Given the description of an element on the screen output the (x, y) to click on. 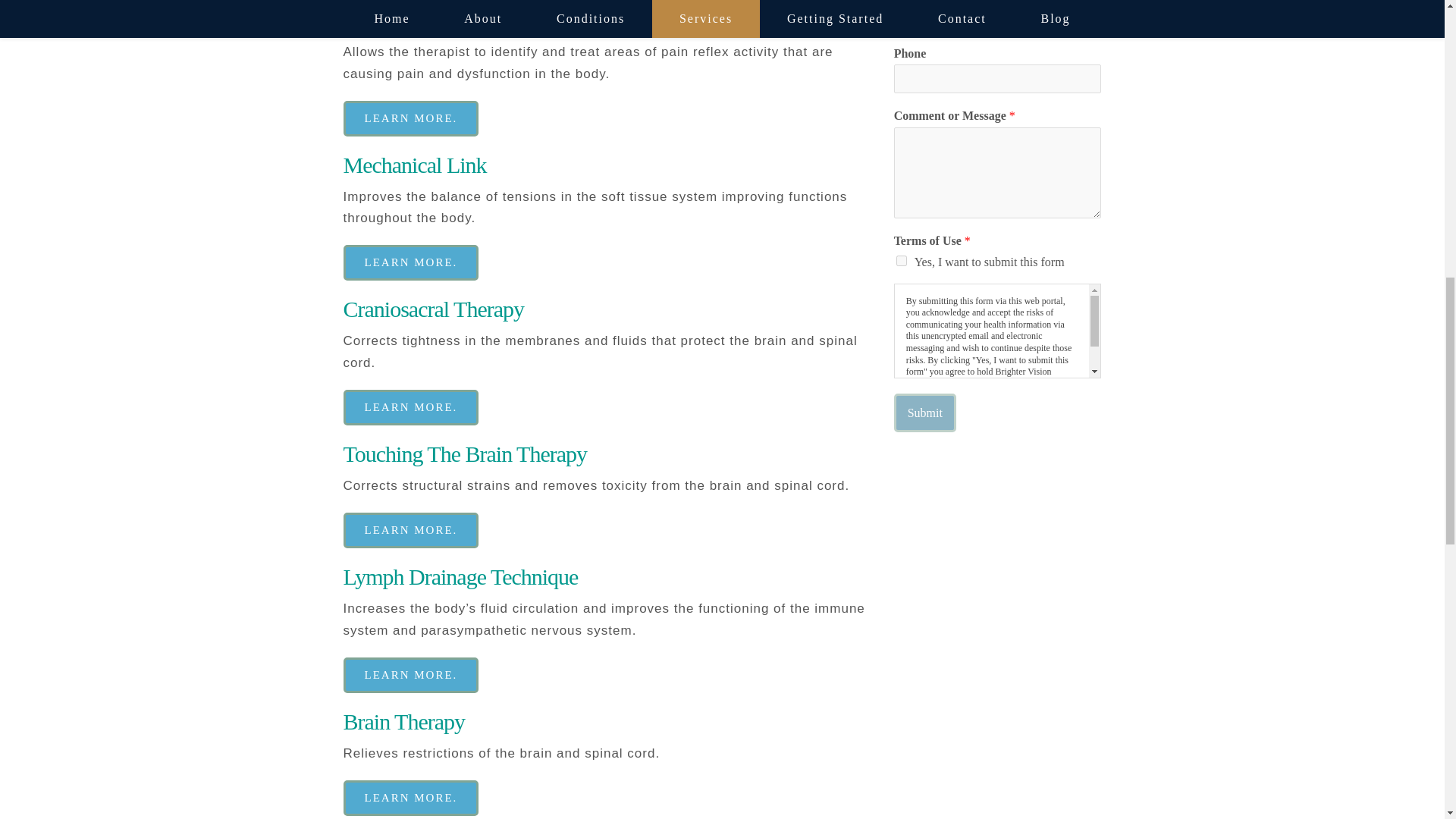
Yes, I want to submit this form (901, 260)
